Given the description of an element on the screen output the (x, y) to click on. 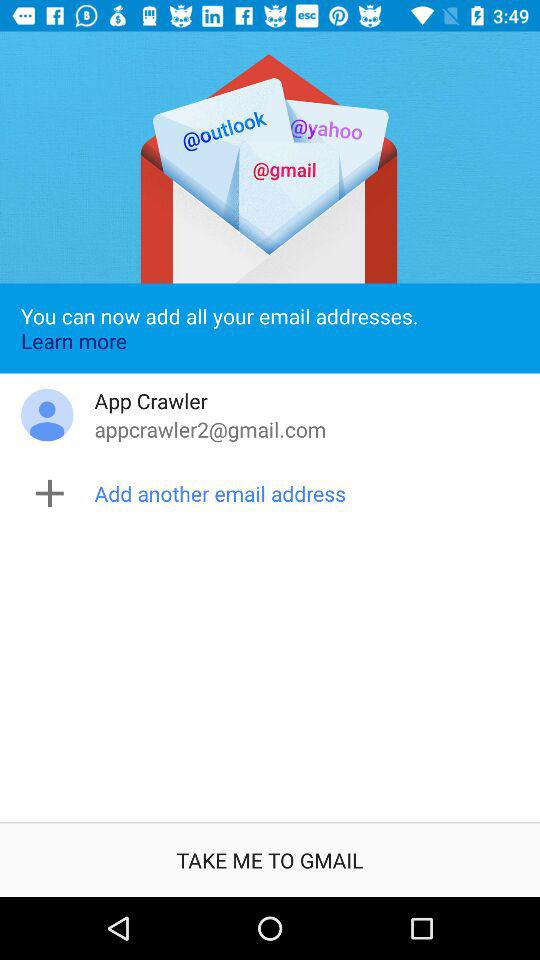
click the take me to icon (270, 859)
